Given the description of an element on the screen output the (x, y) to click on. 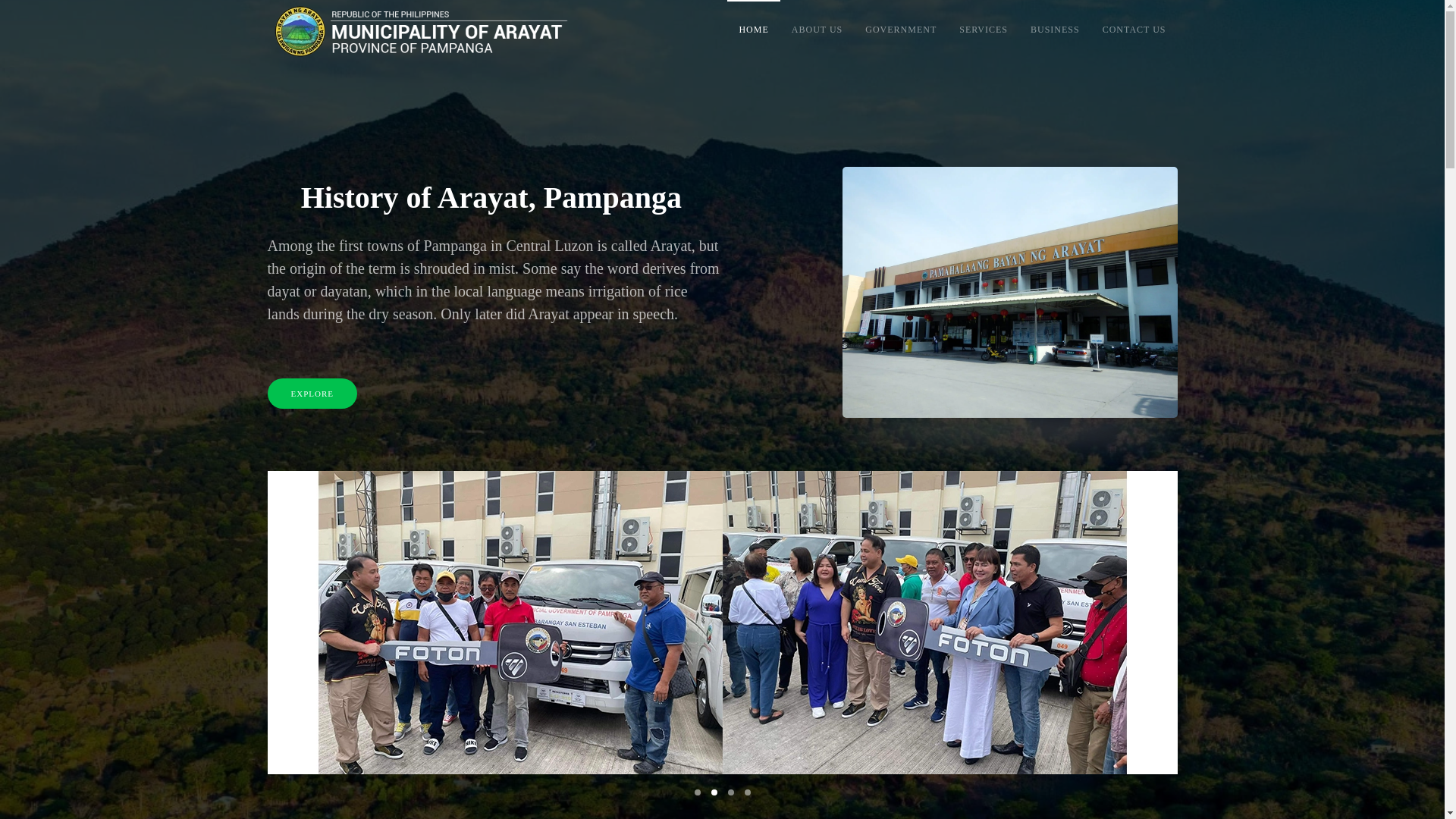
EXPLORE (527, 393)
Explore (311, 393)
ABOUT US (816, 30)
History of Arayat, Pampanga (528, 197)
GOVERNMENT (900, 30)
SERVICES (983, 30)
BUSINESS (1054, 30)
